Given the description of an element on the screen output the (x, y) to click on. 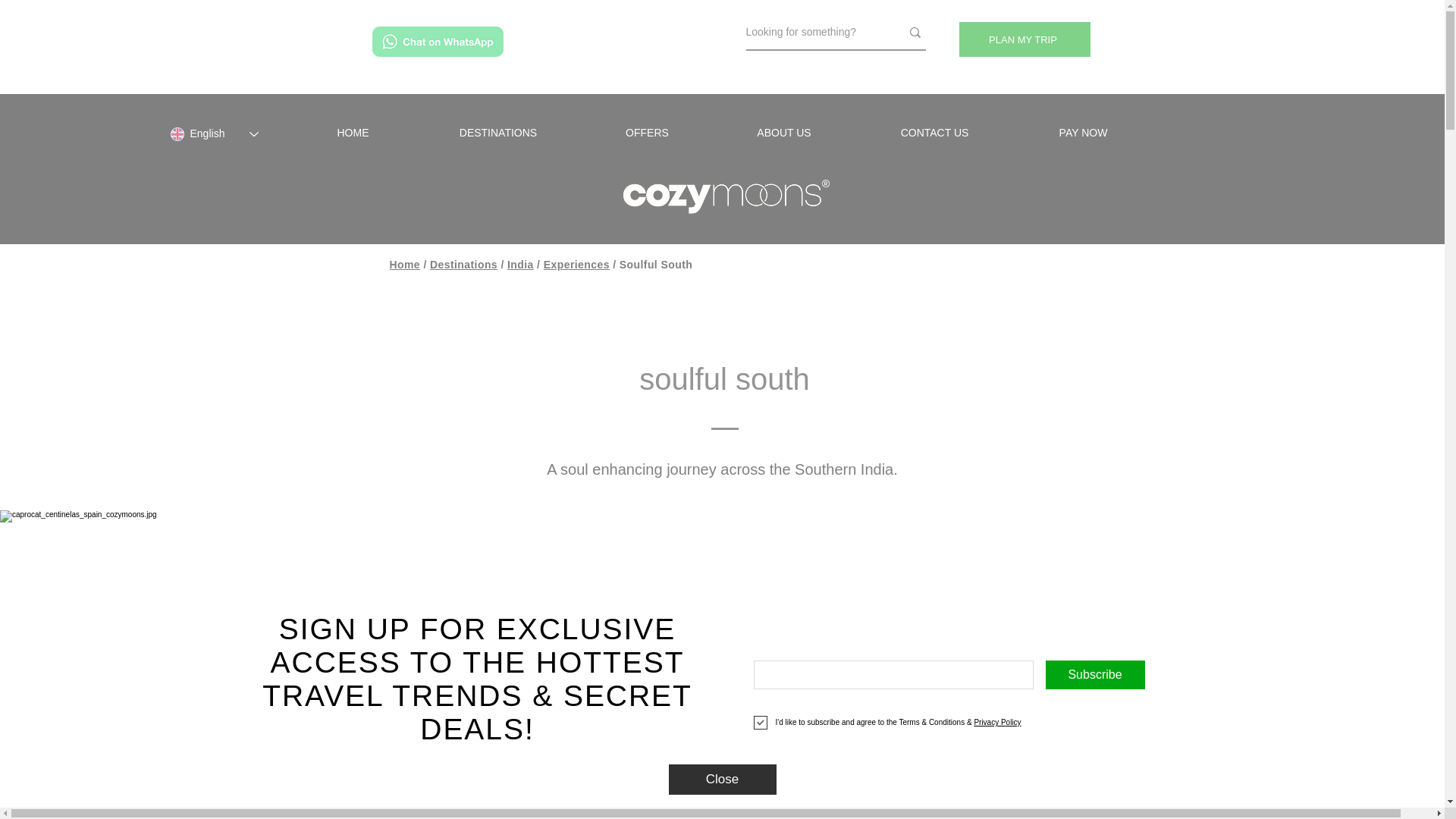
PLAN MY TRIP (1023, 39)
Destinations (463, 264)
Wix Chat (1408, 771)
DESTINATIONS (496, 132)
Home (405, 264)
OFFERS (647, 132)
Cozymoons Logo.jpg (721, 195)
India (520, 264)
CONTACT US (934, 132)
PAY NOW (1083, 132)
HOME (352, 132)
Experiences (576, 264)
